Given the description of an element on the screen output the (x, y) to click on. 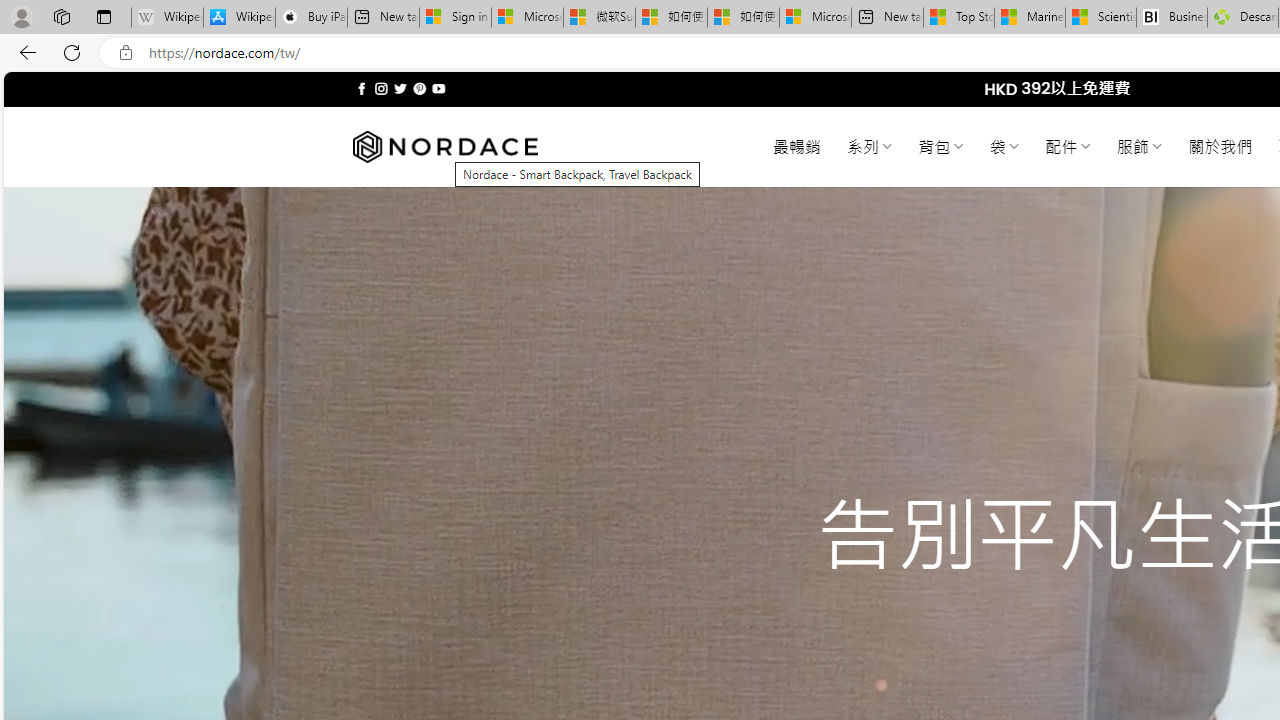
Follow on Twitter (400, 88)
Follow on YouTube (438, 88)
Follow on Facebook (361, 88)
